Given the description of an element on the screen output the (x, y) to click on. 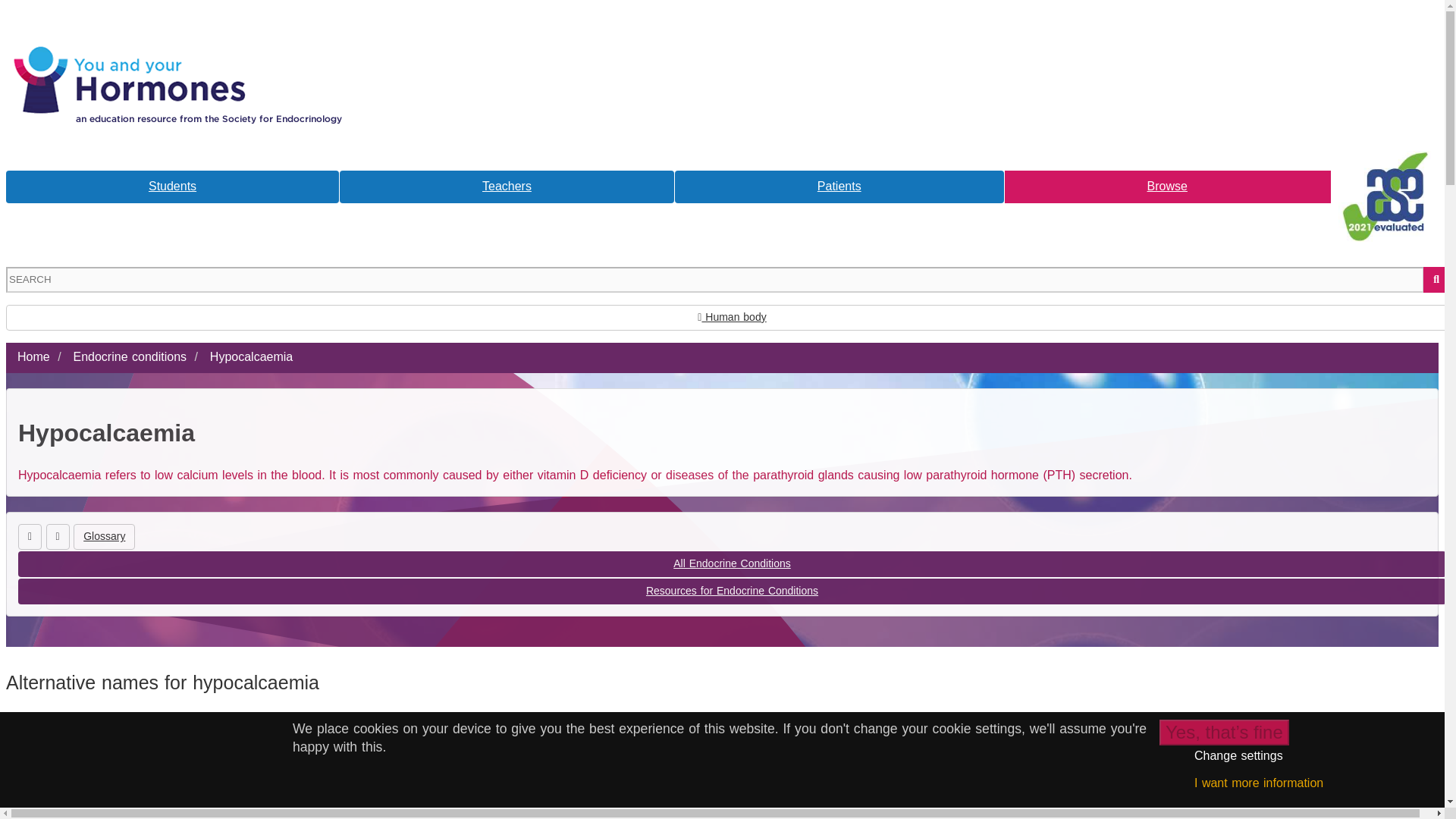
Patients (839, 186)
Hypocalcaemia (250, 356)
Resources for Endocrine Conditions (731, 591)
Glossary (104, 536)
Change settings (1238, 755)
Outreach Opportunities (900, 29)
All Endocrine Conditions (731, 564)
I want more information (1258, 782)
Endocrine conditions (129, 356)
Home (33, 356)
News (1264, 29)
Teachers (506, 186)
Contact (533, 29)
About (180, 29)
Students (172, 186)
